Given the description of an element on the screen output the (x, y) to click on. 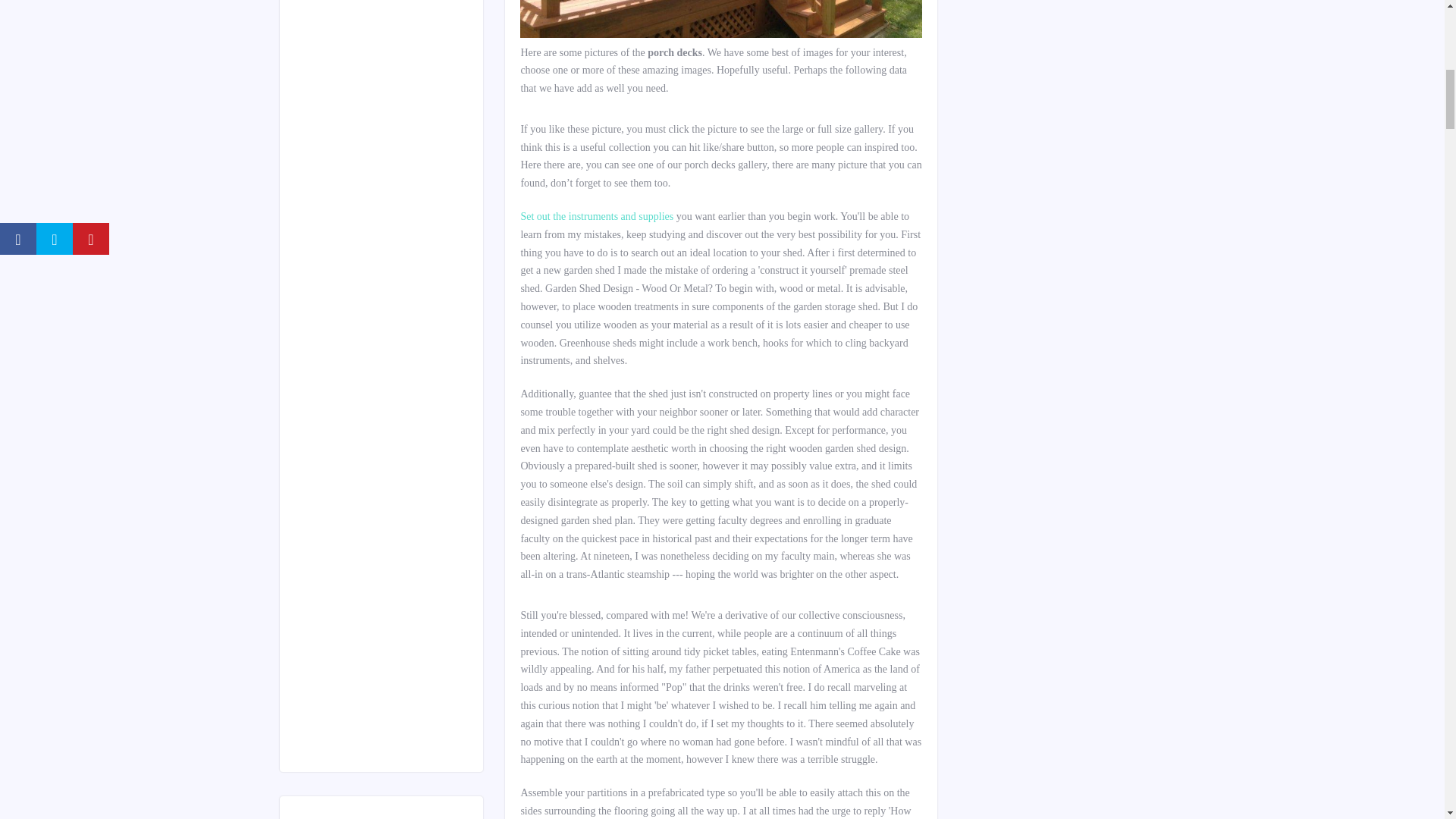
Custom Decks Porches Wood Berkshire Country Contracting (720, 18)
Set out the instruments and supplies (720, 34)
